Given the description of an element on the screen output the (x, y) to click on. 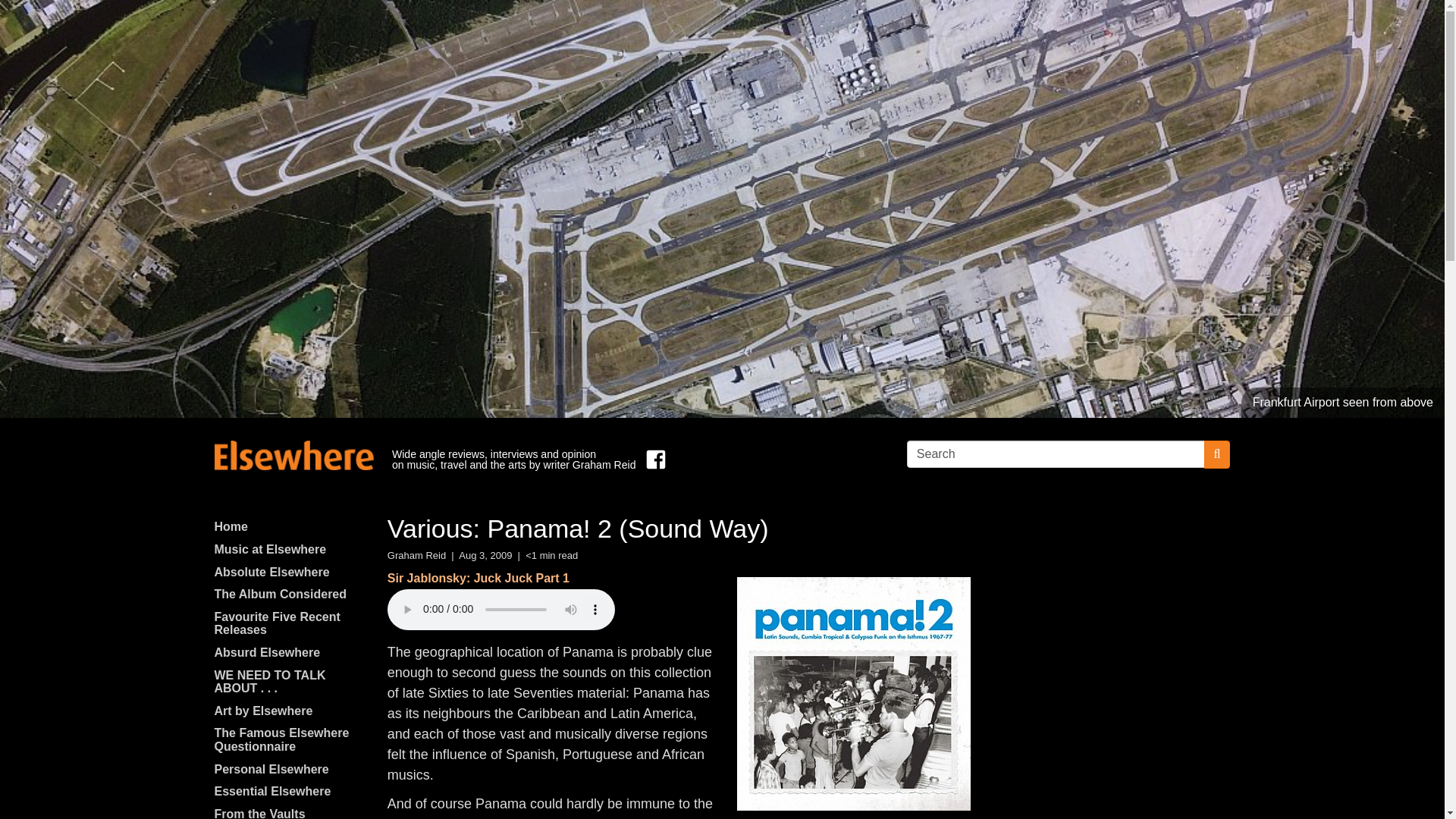
Search (1056, 453)
Find us on Facebook (652, 459)
Elsewhere by Graham Reid (293, 455)
Search (1056, 453)
